Given the description of an element on the screen output the (x, y) to click on. 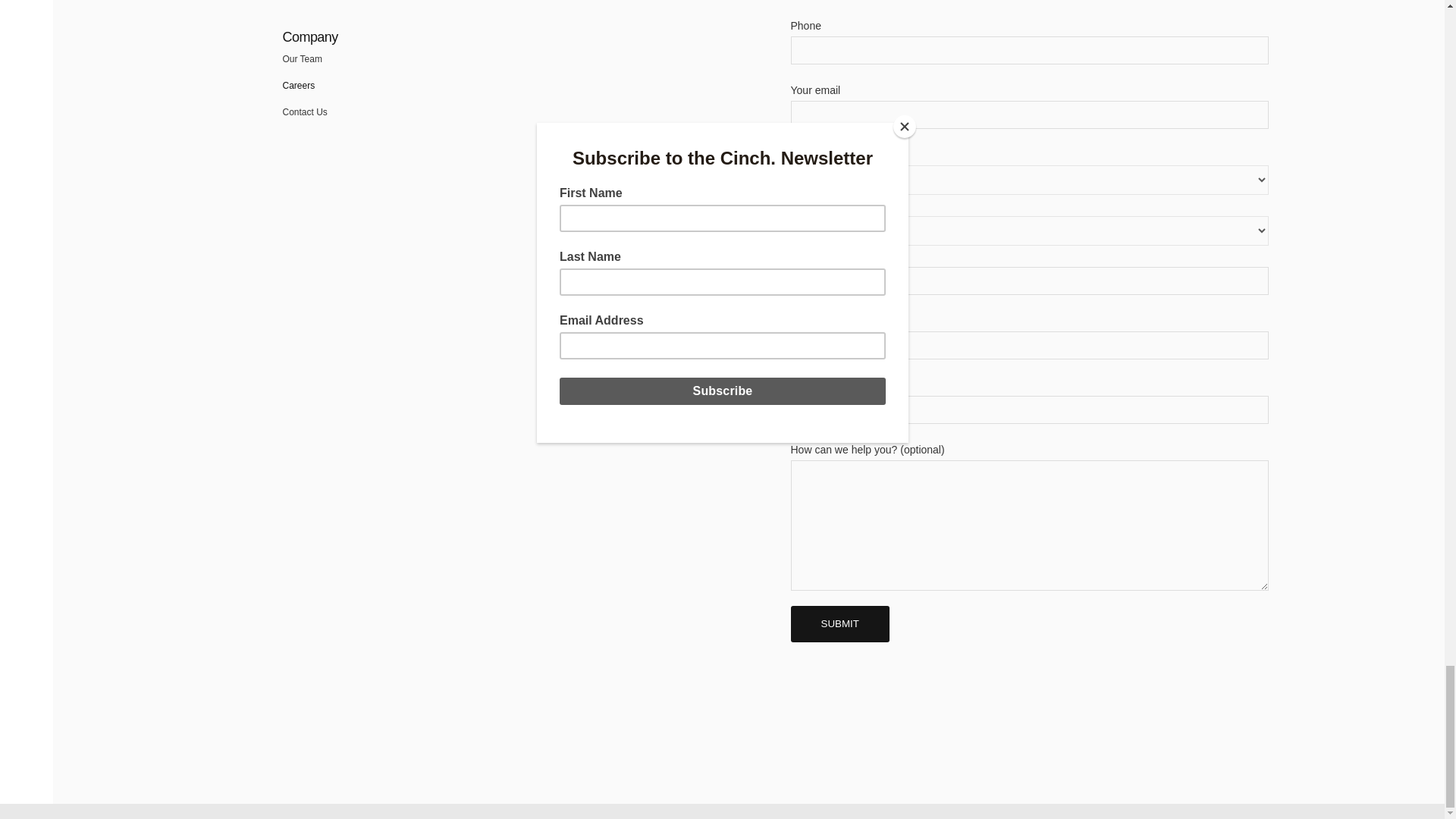
Submit (839, 624)
